Given the description of an element on the screen output the (x, y) to click on. 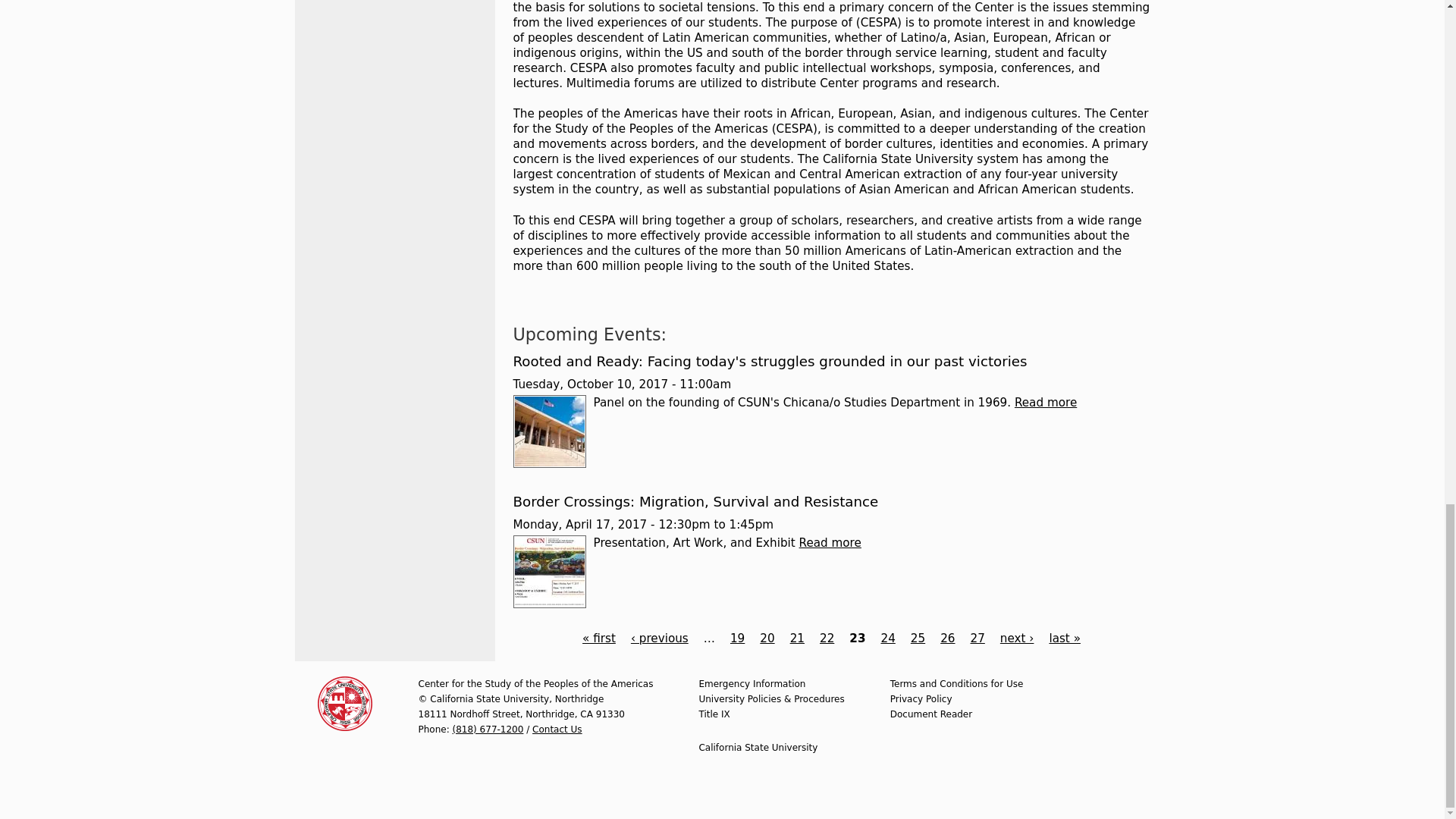
Go to page 22 (826, 638)
Go to page 20 (767, 638)
Go to page 25 (917, 638)
Go to page 24 (887, 638)
Go to previous page (659, 638)
Go to first page (598, 638)
The University Library (548, 430)
Seal for California State University, Northridge (344, 703)
Go to page 21 (797, 638)
Go to page 27 (978, 638)
nine (725, 714)
Go to page 26 (947, 638)
Go to page 19 (737, 638)
Go to last page (1064, 638)
Go to next page (1016, 638)
